Given the description of an element on the screen output the (x, y) to click on. 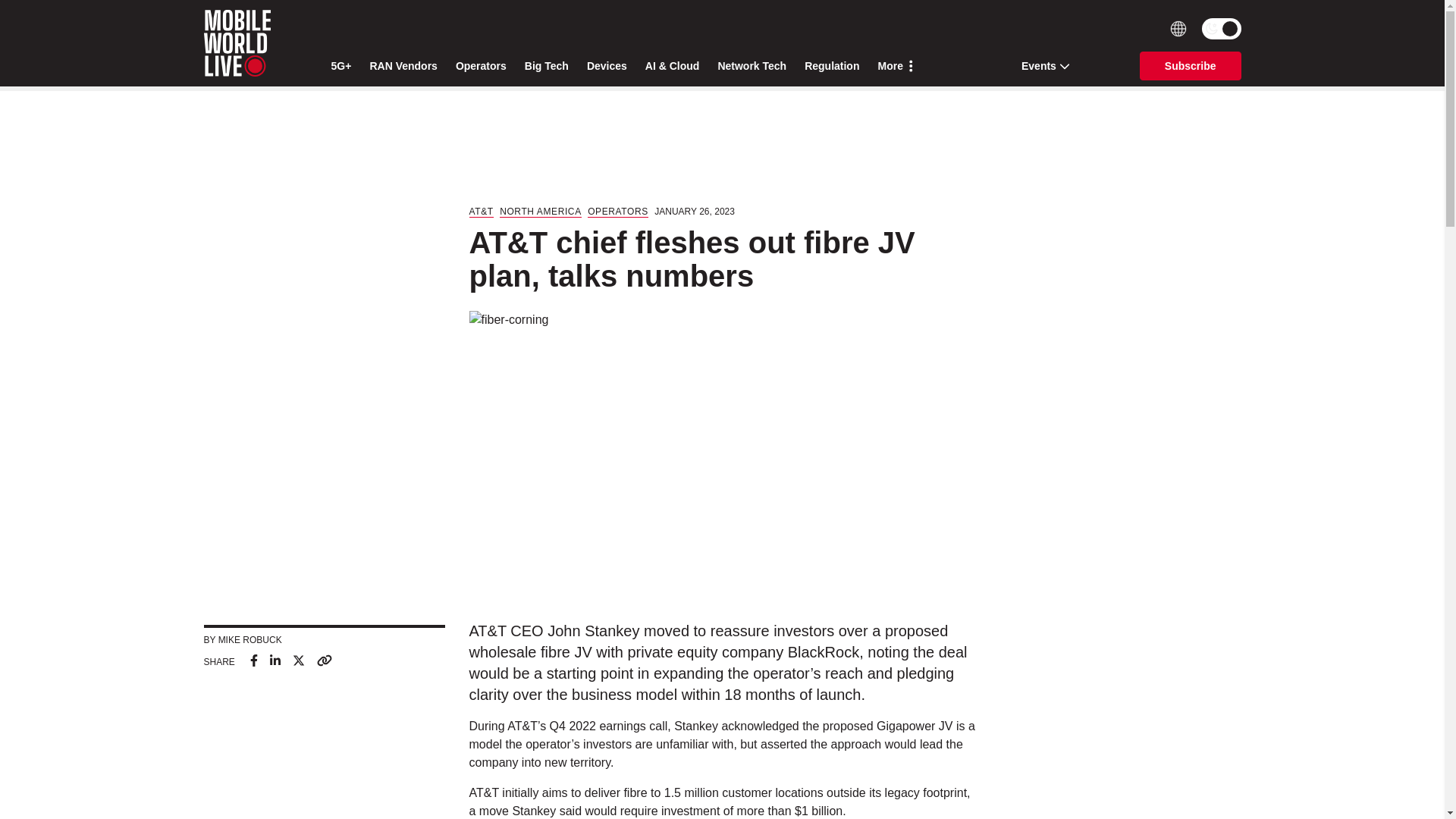
RAN Vendors (402, 65)
Operators (480, 65)
Events (1040, 65)
Subscribe (1190, 65)
Regulation (832, 65)
Network Tech (751, 65)
Devices (606, 65)
Big Tech (546, 65)
